Given the description of an element on the screen output the (x, y) to click on. 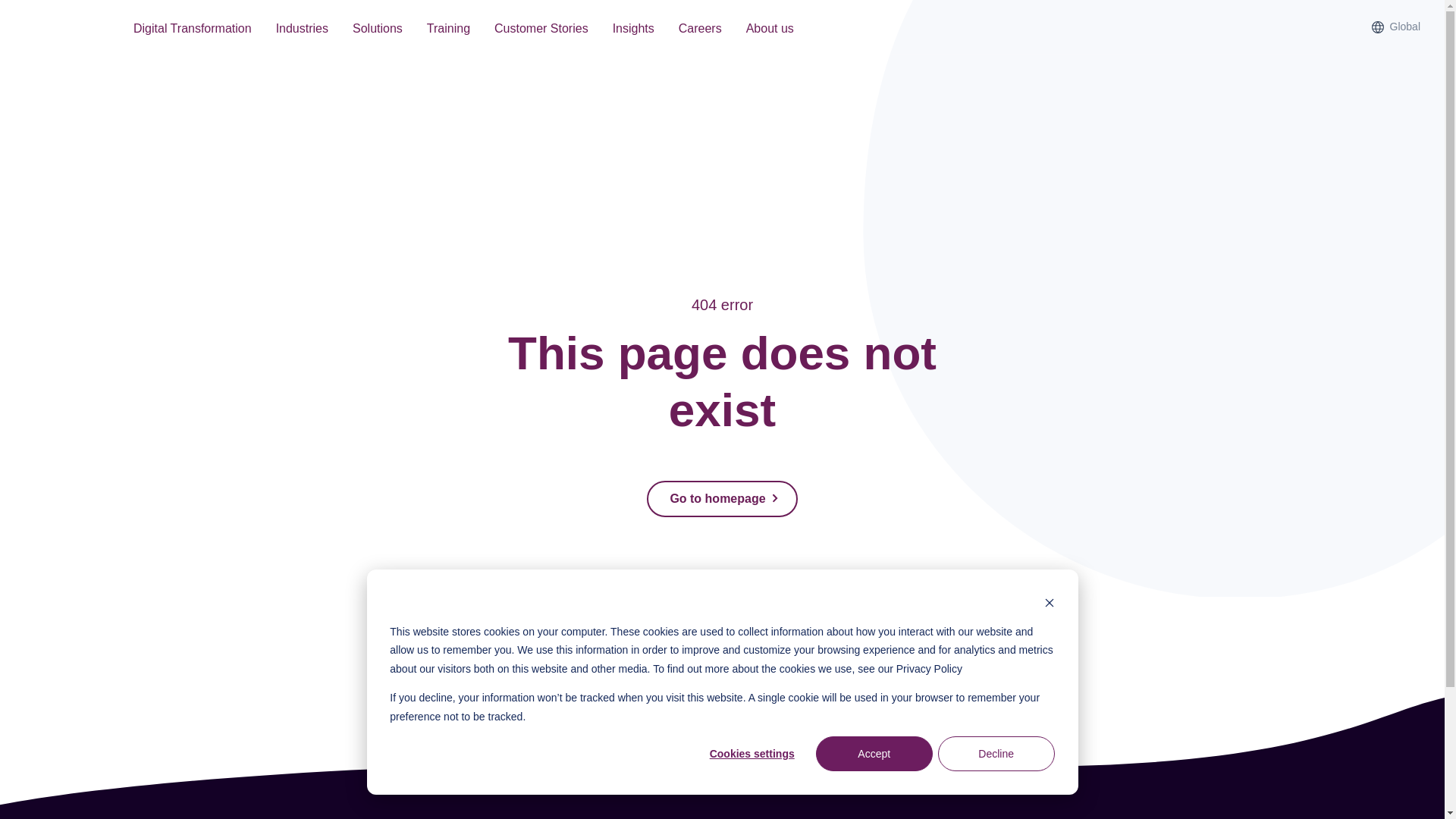
Solutions (377, 29)
Insights (632, 29)
Careers (699, 29)
Digital Transformation (191, 29)
Industries (301, 29)
About us (769, 29)
Customer Stories (540, 29)
Training (447, 29)
